Given the description of an element on the screen output the (x, y) to click on. 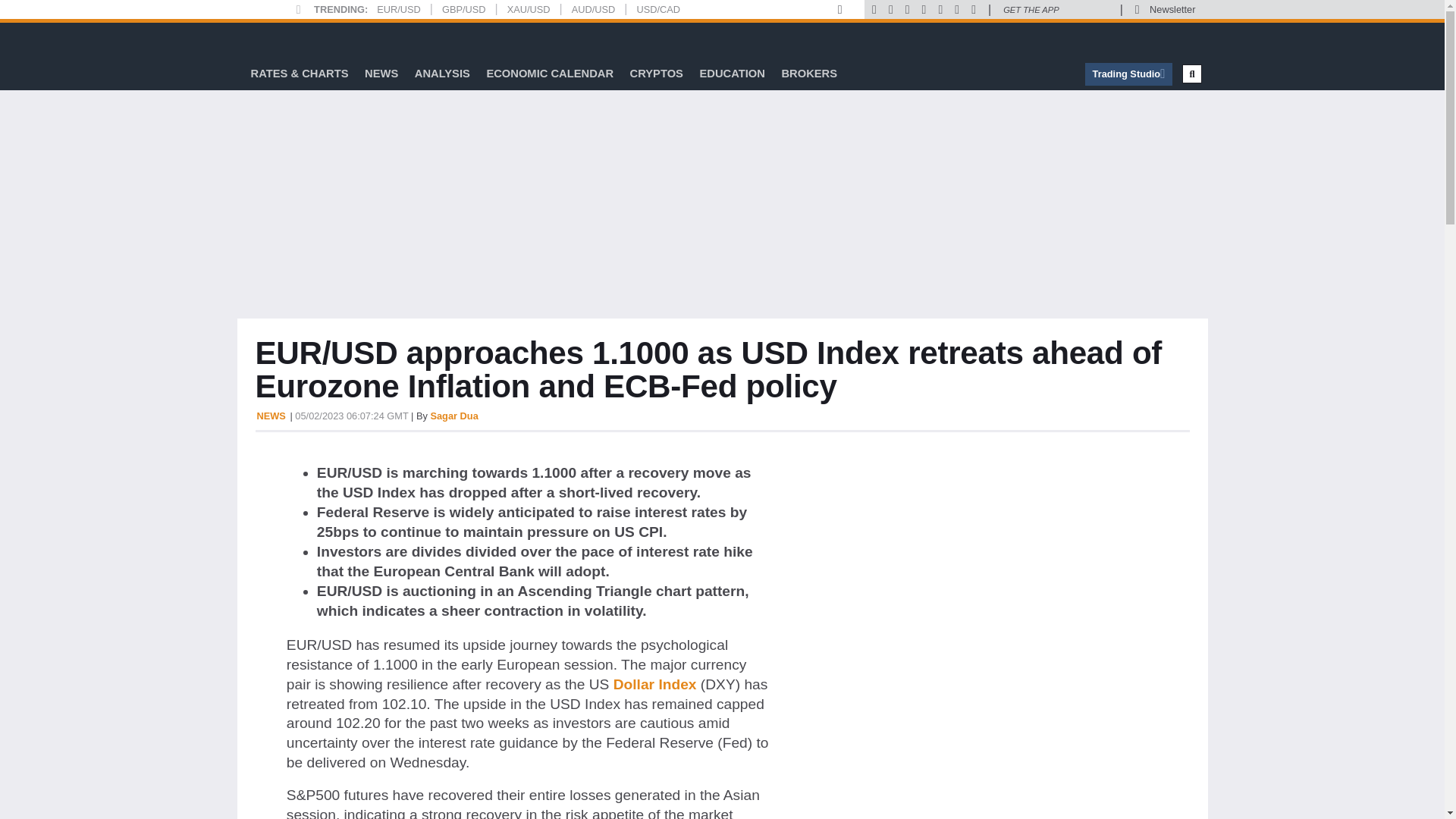
Newsletter (1172, 9)
FXStreet (290, 39)
FXStreet (290, 39)
